Given the description of an element on the screen output the (x, y) to click on. 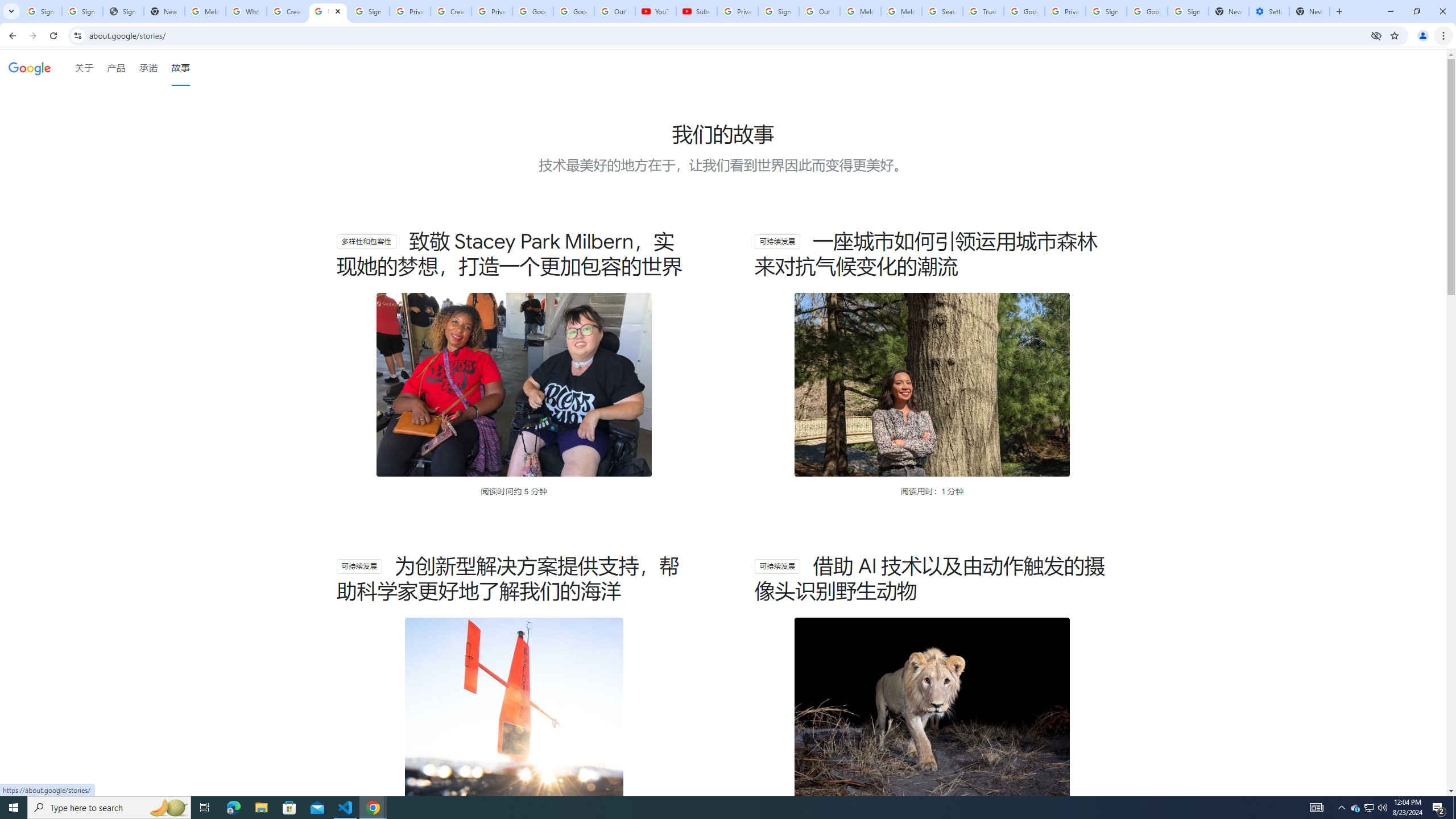
Sign in - Google Accounts (81, 11)
Sign in - Google Accounts (41, 11)
Google Cybersecurity Innovations - Google Safety Center (1146, 11)
Google Account (573, 11)
Trusted Information and Content - Google Safety Center (983, 11)
